Given the description of an element on the screen output the (x, y) to click on. 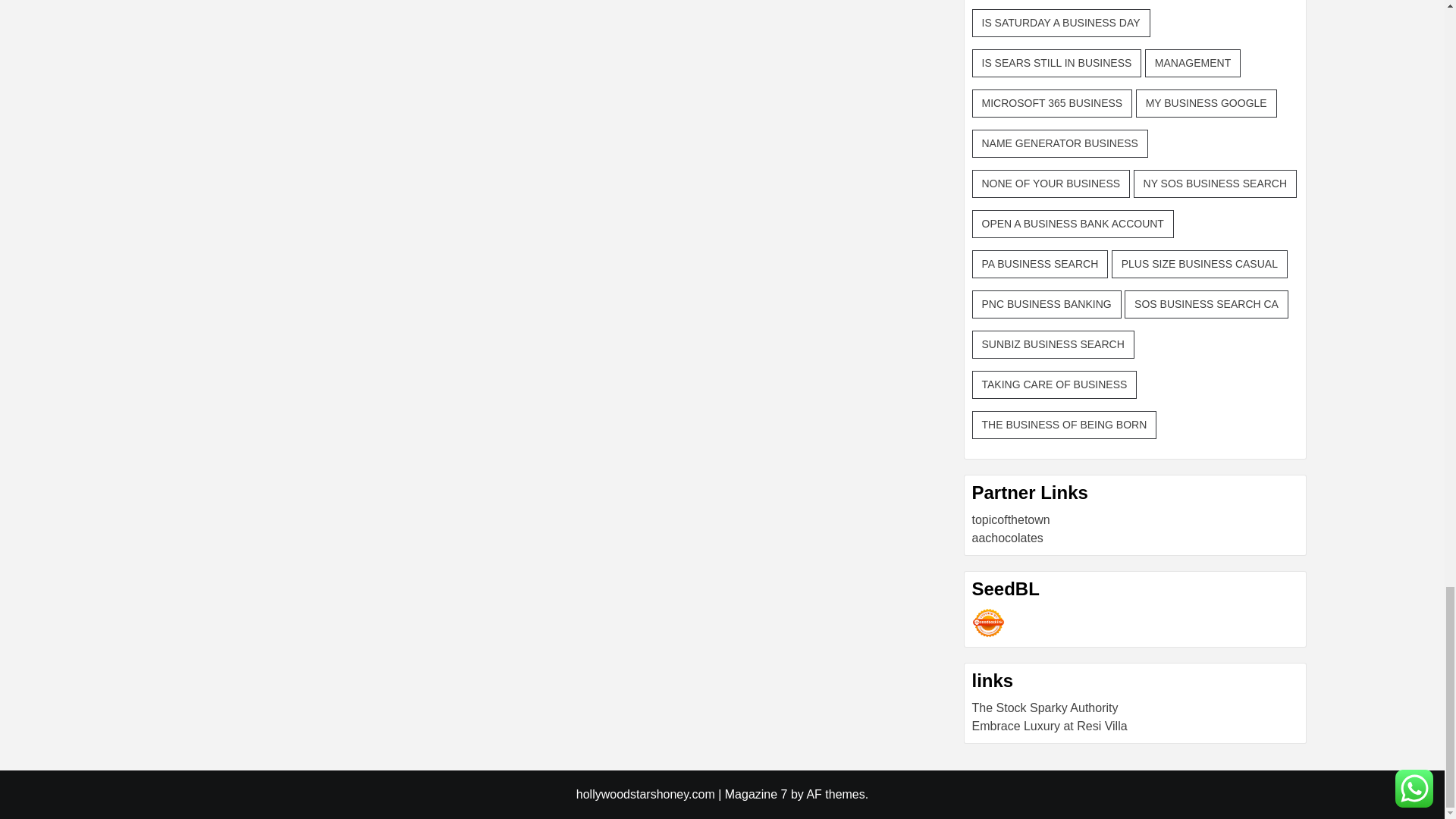
Seedbacklink (988, 622)
